Given the description of an element on the screen output the (x, y) to click on. 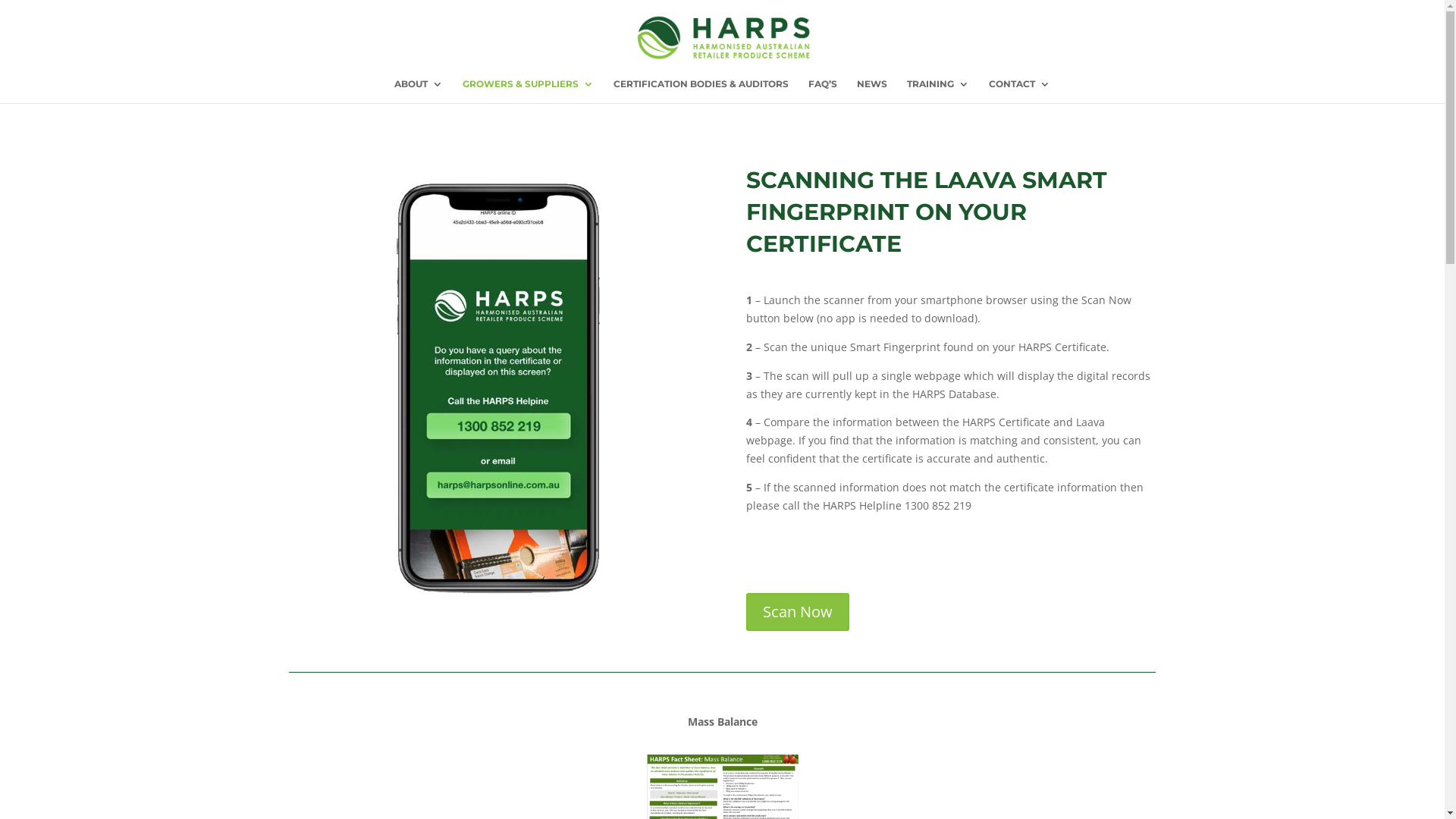
NEWS Element type: text (871, 90)
ABOUT Element type: text (418, 90)
GROWERS & SUPPLIERS Element type: text (527, 90)
TRAINING Element type: text (937, 90)
Laava_Harps_Mobile_Opt Element type: hover (493, 385)
CONTACT Element type: text (1019, 90)
CERTIFICATION BODIES & AUDITORS Element type: text (700, 90)
Scan Now Element type: text (797, 611)
